Given the description of an element on the screen output the (x, y) to click on. 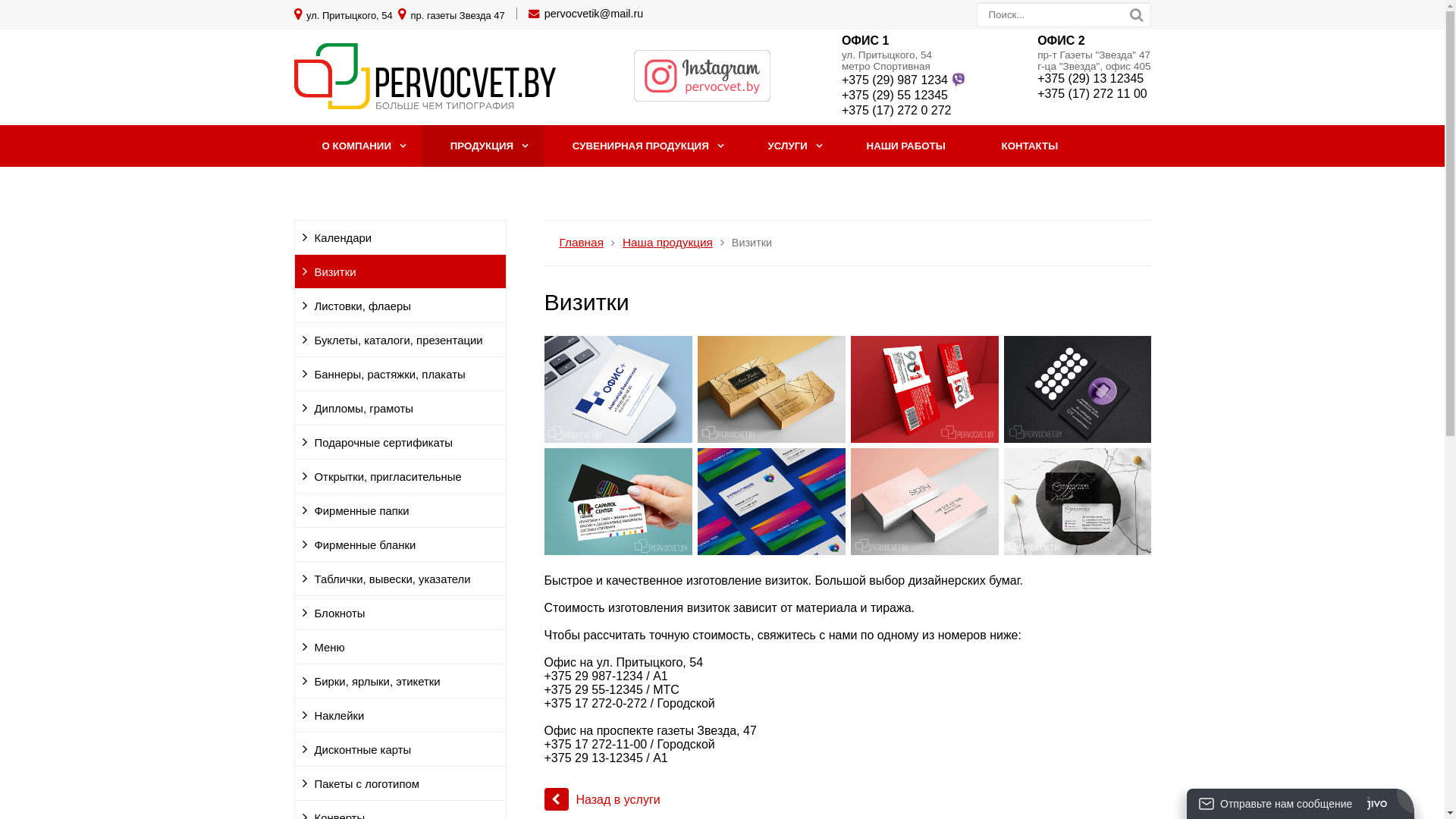
+375 (17) 272 0 272 Element type: text (896, 109)
+375 (29) 55 12345 Element type: text (894, 94)
+375 (29) 13 12345 Element type: text (1090, 78)
+375 (17) 272 11 00 Element type: text (1092, 93)
pervocvetik@mail.ru Element type: text (593, 13)
+375 (29) 987 1234 Element type: text (903, 79)
